Given the description of an element on the screen output the (x, y) to click on. 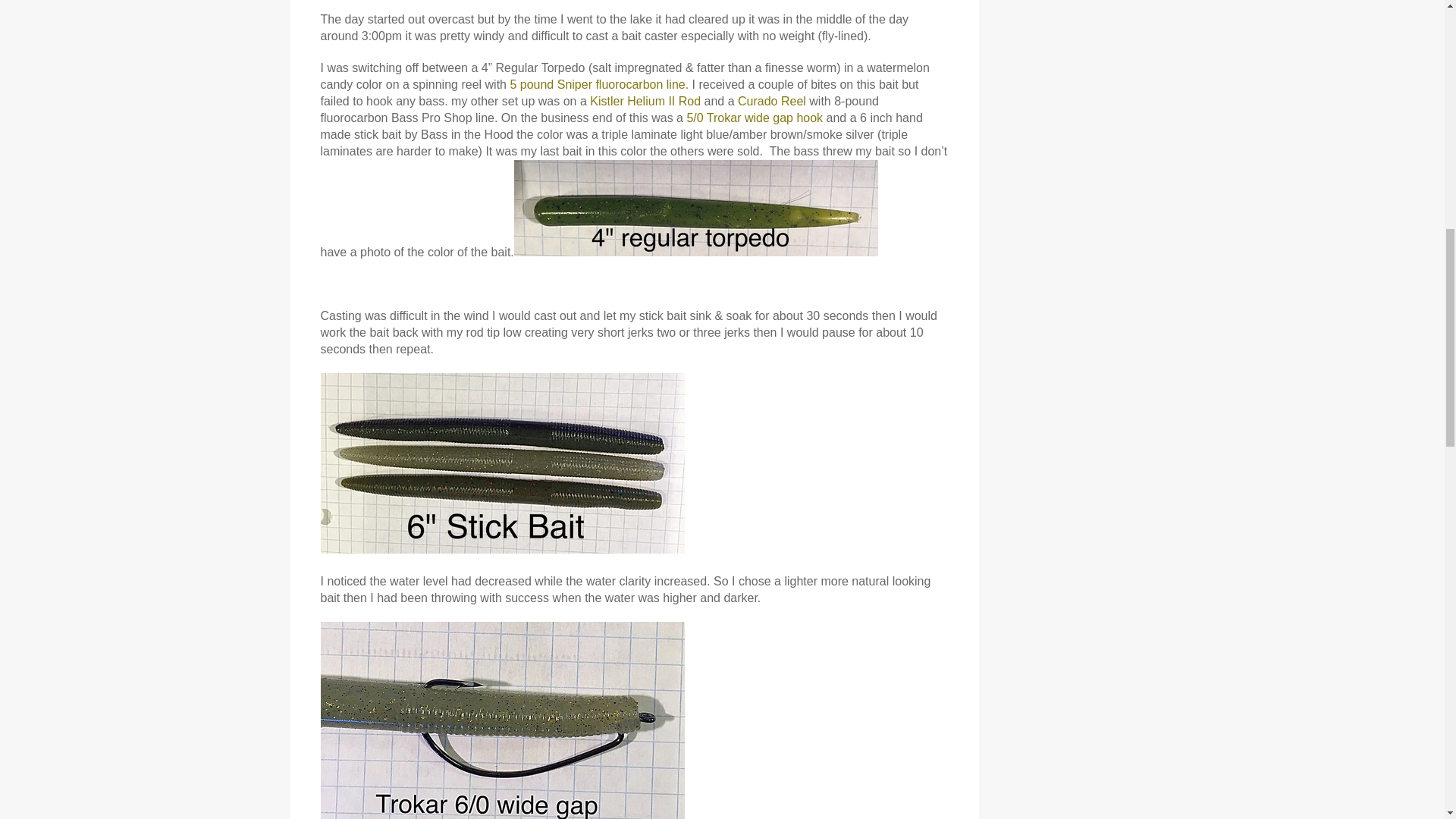
5 pound Sniper fluorocarbon line. (598, 83)
Trokar Hooks (755, 117)
Sunline Sniper Line (598, 83)
Torpedo Worms by Bass In The Hood (695, 251)
Kistler Helium II Rod (644, 101)
Stick Baits (502, 549)
Shimano Curado (772, 101)
Curado Reel (772, 101)
